Given the description of an element on the screen output the (x, y) to click on. 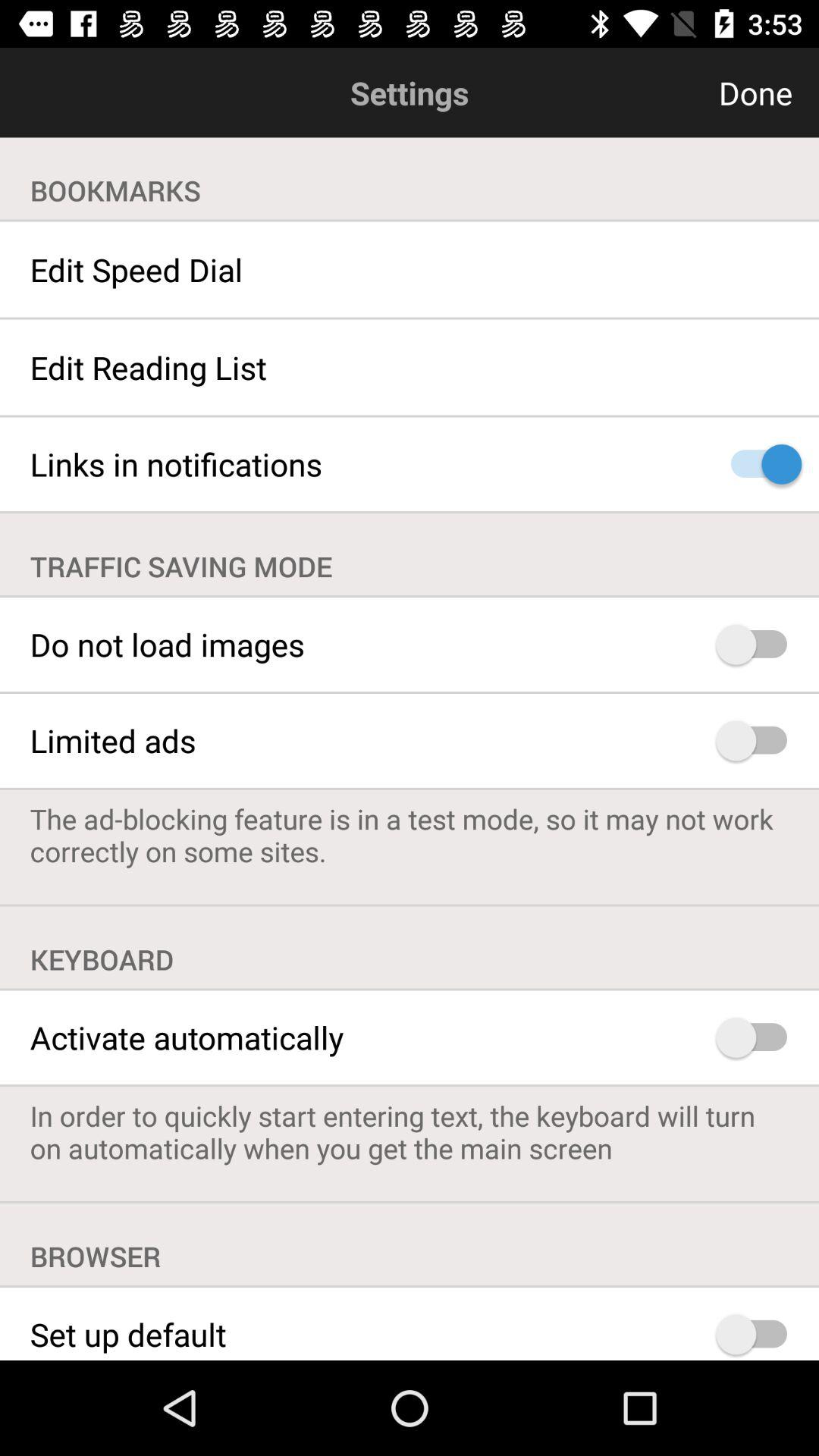
set as default (758, 1333)
